Given the description of an element on the screen output the (x, y) to click on. 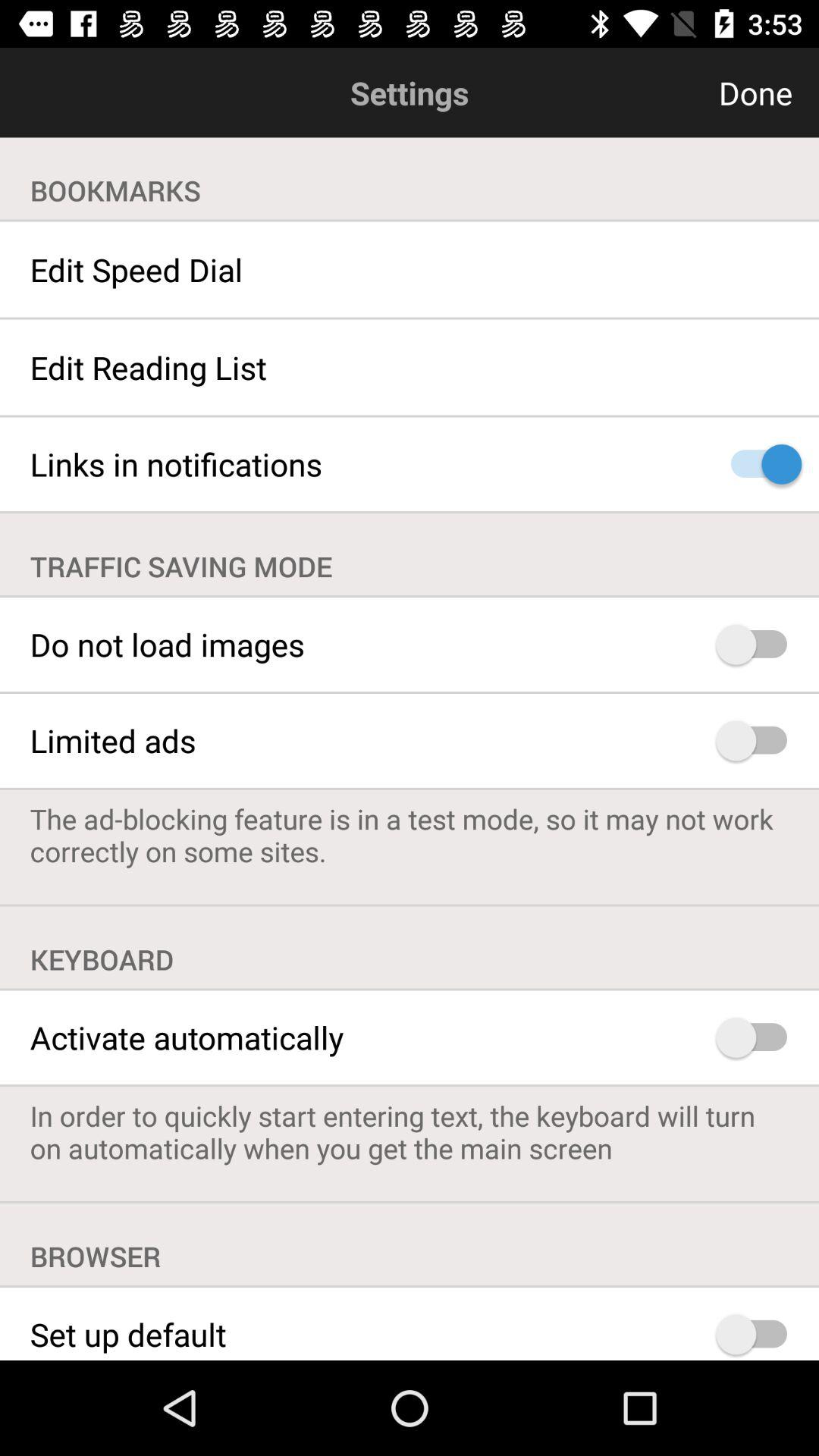
set as default (758, 1333)
